Given the description of an element on the screen output the (x, y) to click on. 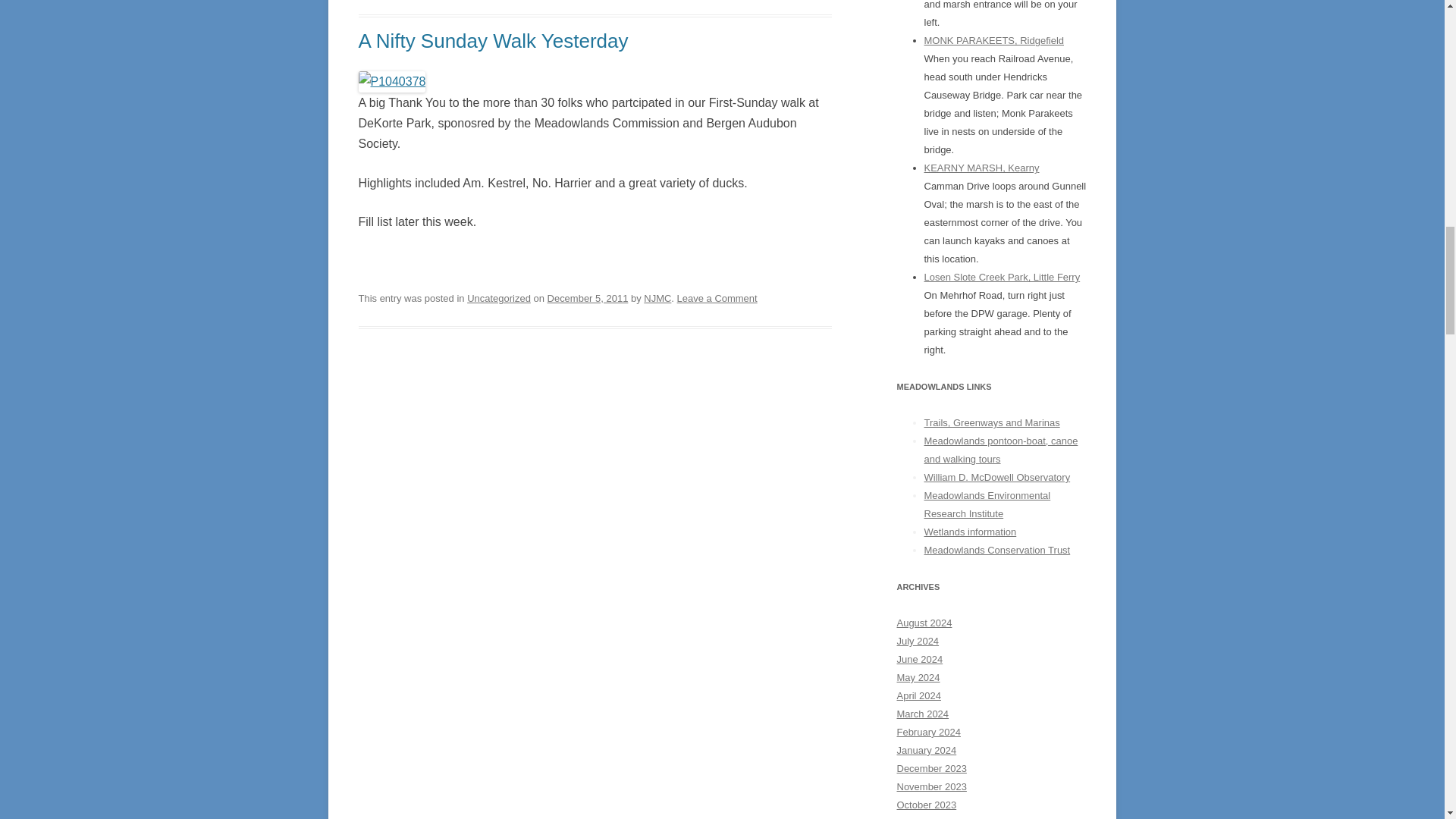
View all posts by NJMC (657, 297)
7:33 am (587, 297)
December 5, 2011 (587, 297)
Permalink to A Nifty Sunday Walk Yesterday (492, 40)
Leave a Comment (717, 297)
P1040378 (391, 81)
NJMC (657, 297)
A Nifty Sunday Walk Yesterday (492, 40)
Uncategorized (499, 297)
